Given the description of an element on the screen output the (x, y) to click on. 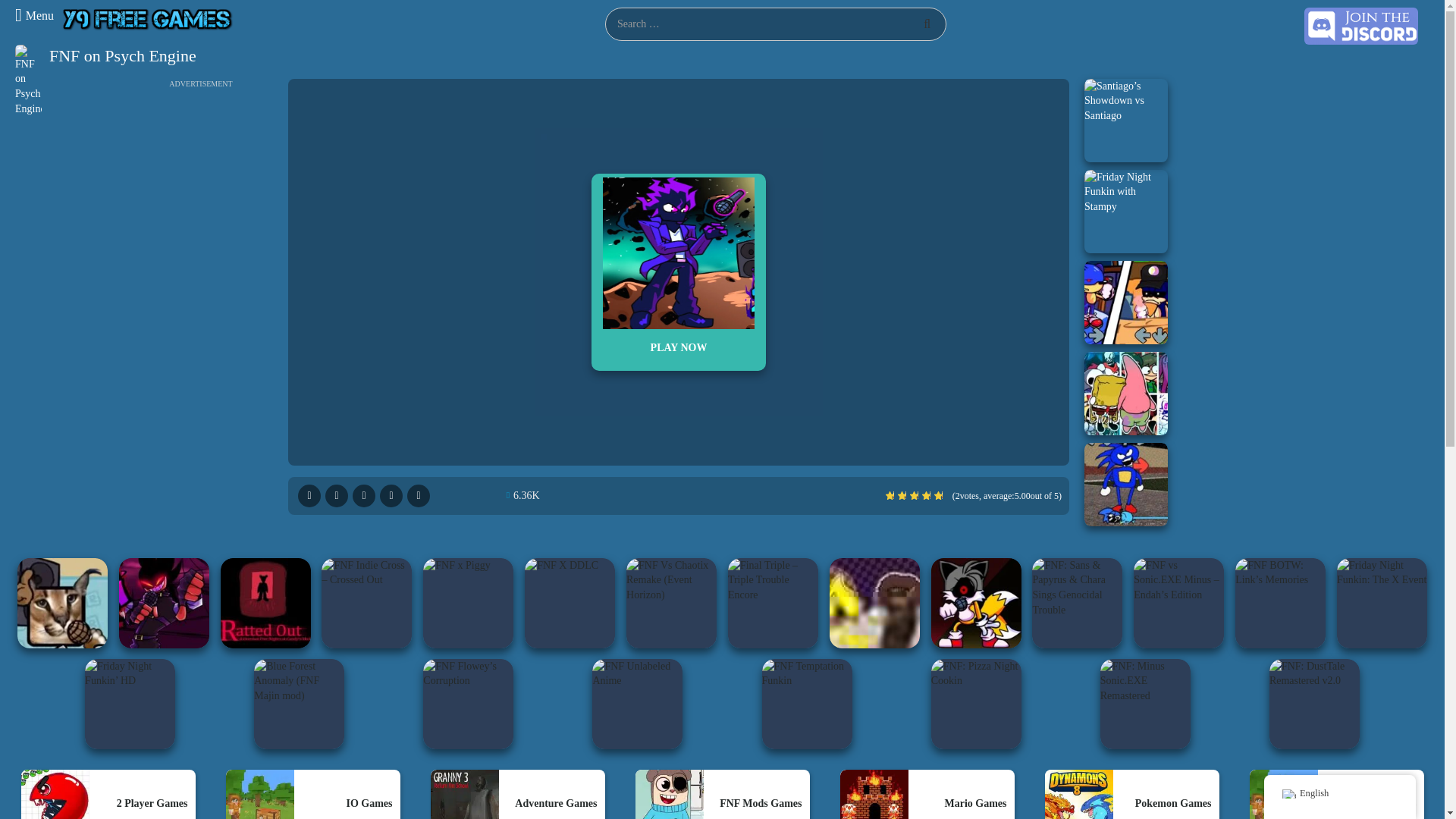
FNF Dead Hope, but Mami, Miku, and Bendy Sing it (1125, 393)
Join us on Discord (1361, 25)
5 Stars (938, 495)
Add to Favorites (418, 495)
4 Stars (925, 495)
Y9FreeGames.com (148, 18)
2 Stars (901, 495)
1 Star (889, 495)
Refresh the Game (391, 495)
Play in fullscreen (309, 495)
